Given the description of an element on the screen output the (x, y) to click on. 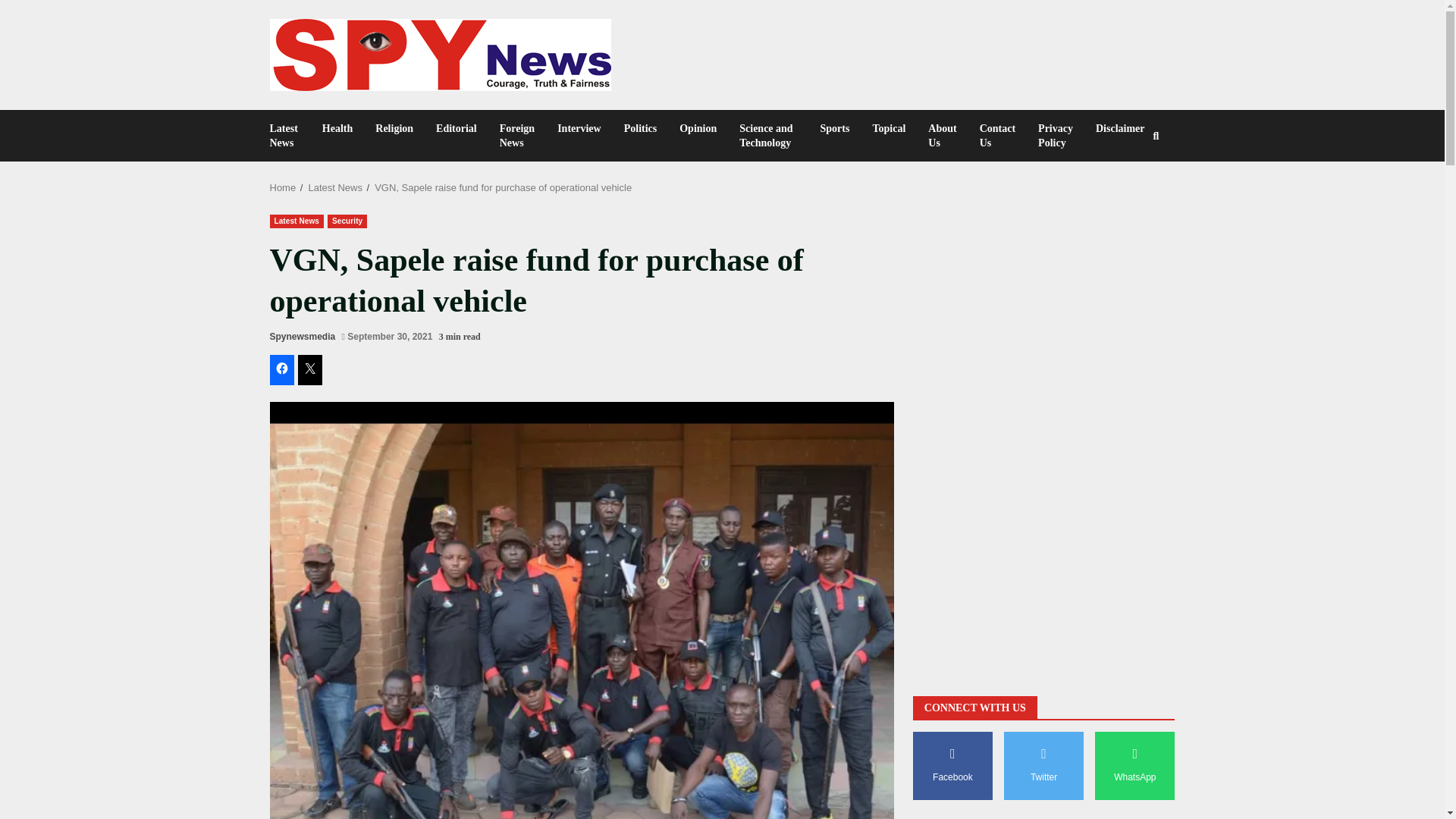
Home (283, 187)
Religion (394, 128)
Search (1128, 197)
Science and Technology (768, 135)
Editorial (456, 128)
Foreign News (516, 135)
Spynewsmedia (302, 336)
Latest News (296, 220)
Sports (835, 128)
About Us (942, 135)
